Given the description of an element on the screen output the (x, y) to click on. 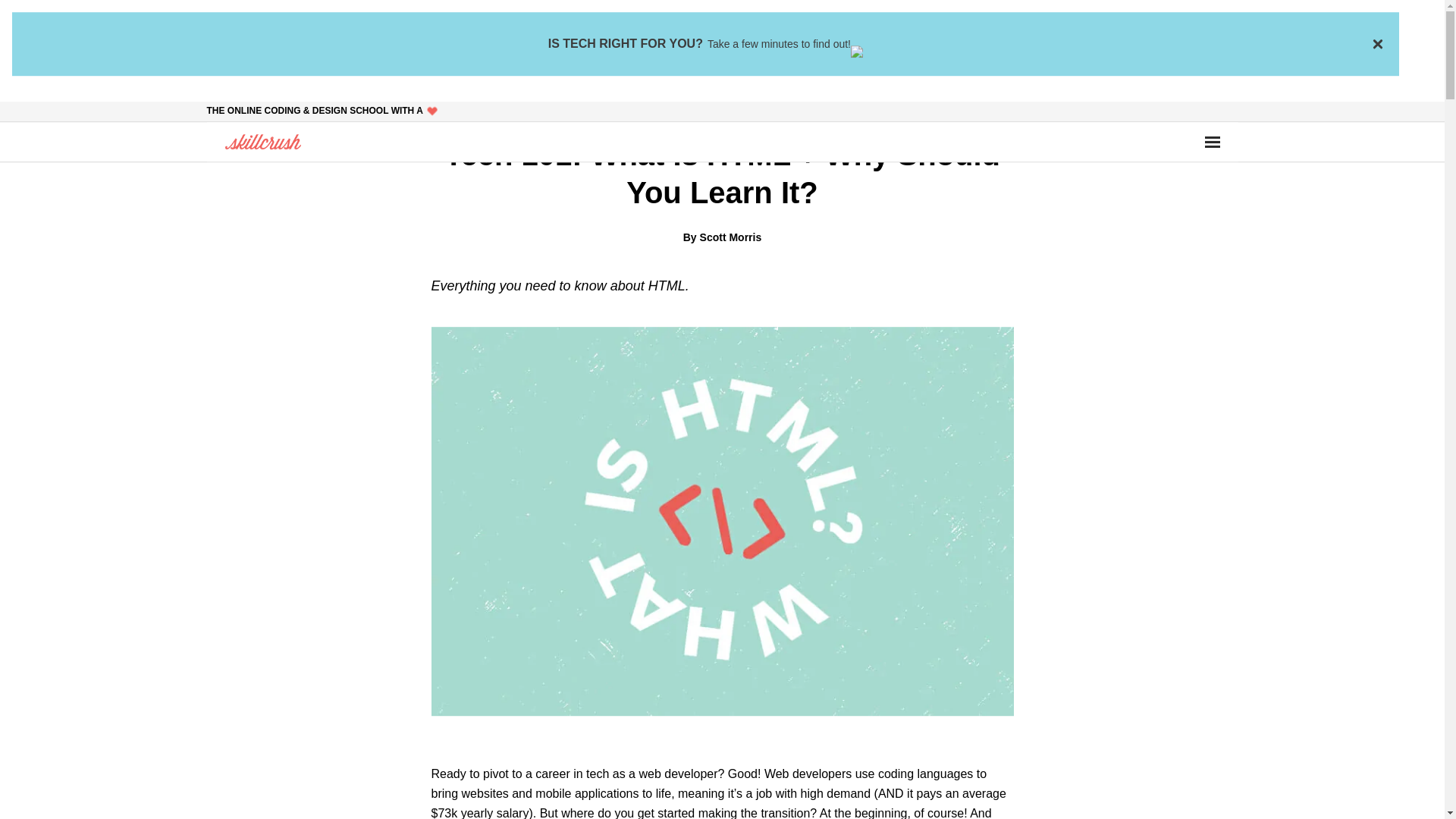
Blog (662, 109)
Skillcrush (261, 141)
Scott Morris (730, 236)
Skillcrush (261, 141)
Home (624, 109)
Coding Languages And Tools (760, 109)
